Given the description of an element on the screen output the (x, y) to click on. 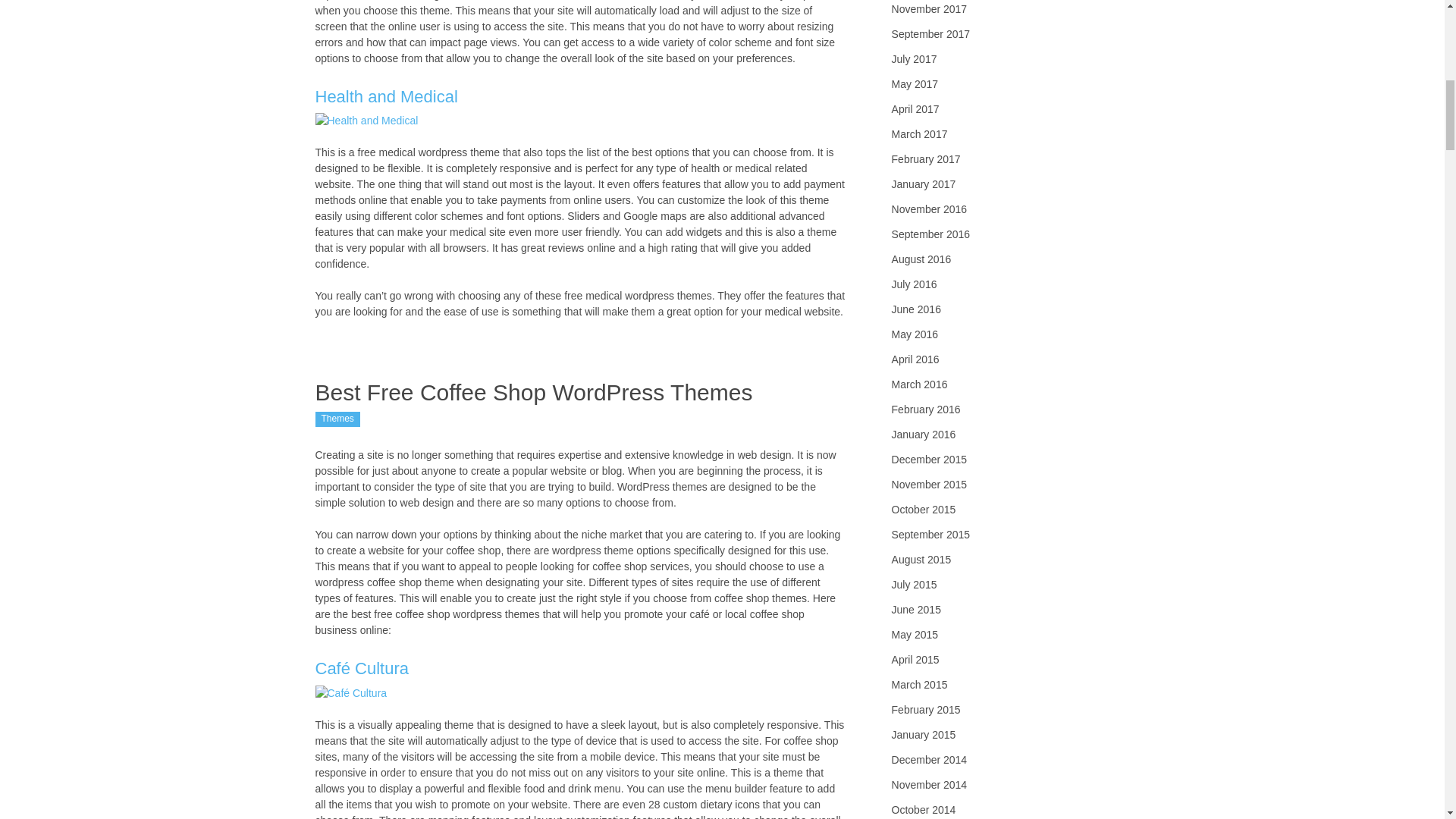
Best Free Coffee Shop WordPress Themes (533, 392)
Health and Medical (386, 96)
Themes (337, 418)
Best Free Coffee Shop WordPress Themes (533, 392)
